Given the description of an element on the screen output the (x, y) to click on. 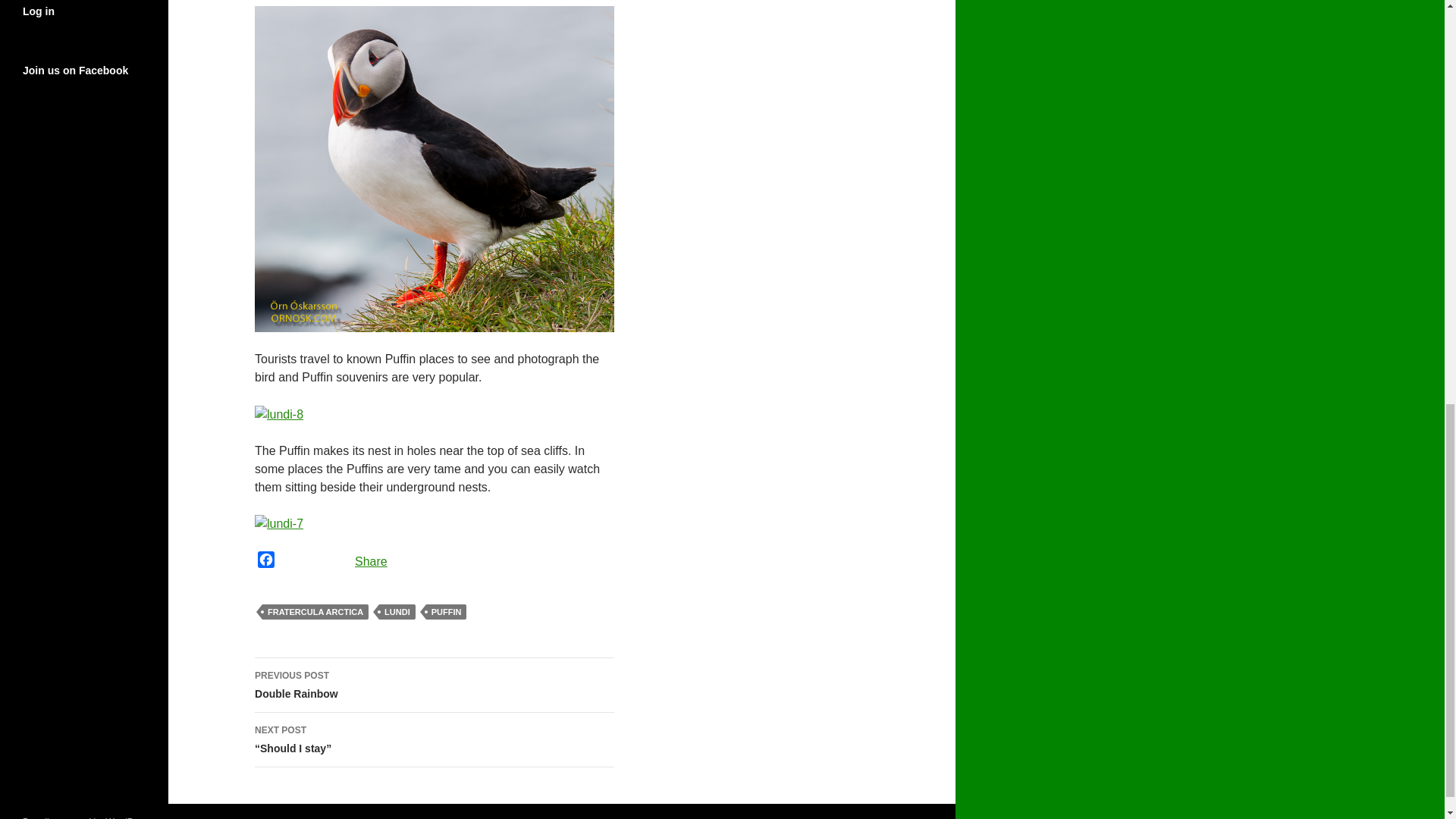
Facebook (266, 561)
